Given the description of an element on the screen output the (x, y) to click on. 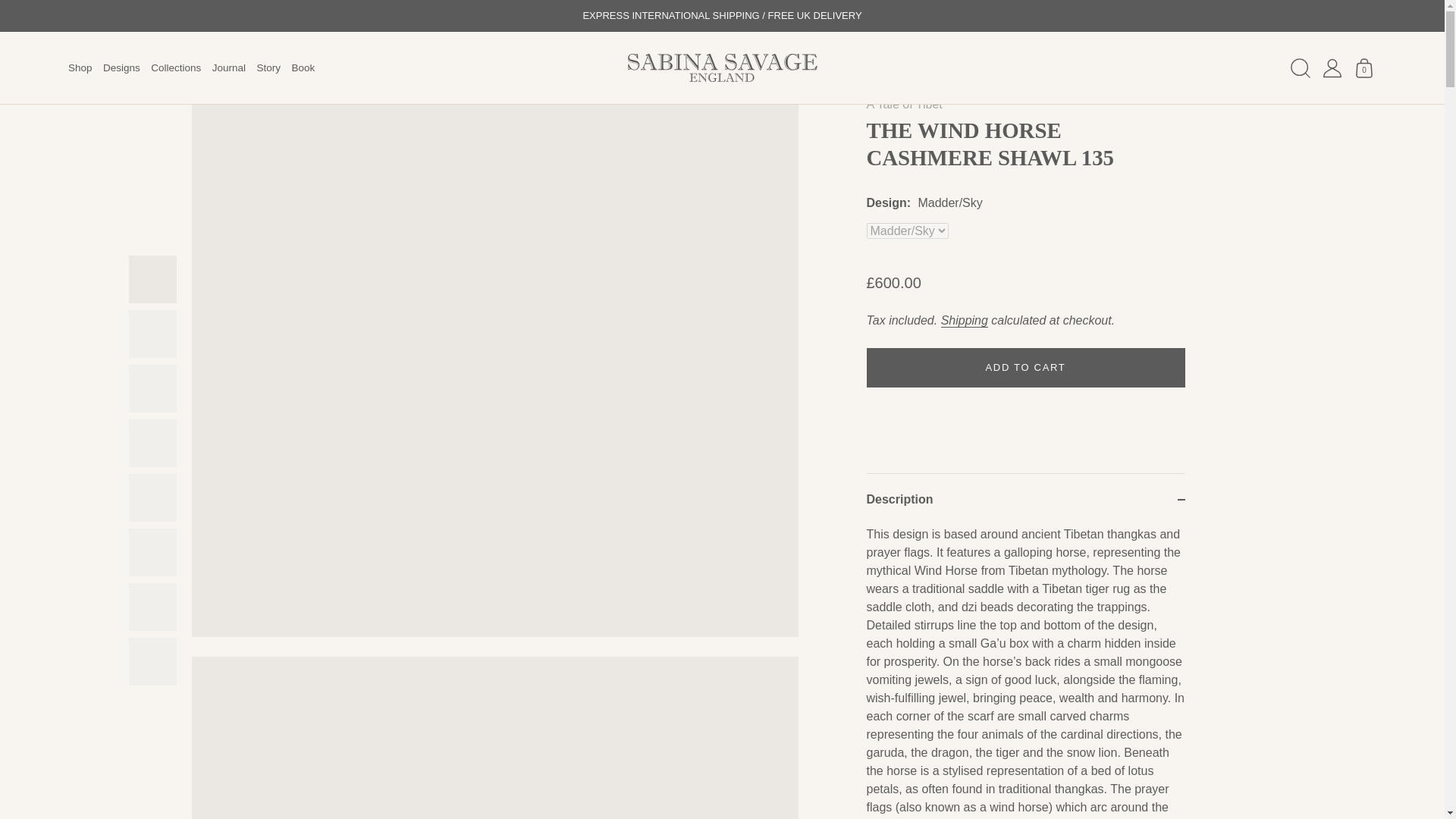
Story (267, 68)
0 (1363, 68)
Book (302, 68)
Designs (121, 68)
Collections (176, 68)
Shop (80, 68)
Journal (228, 68)
